Given the description of an element on the screen output the (x, y) to click on. 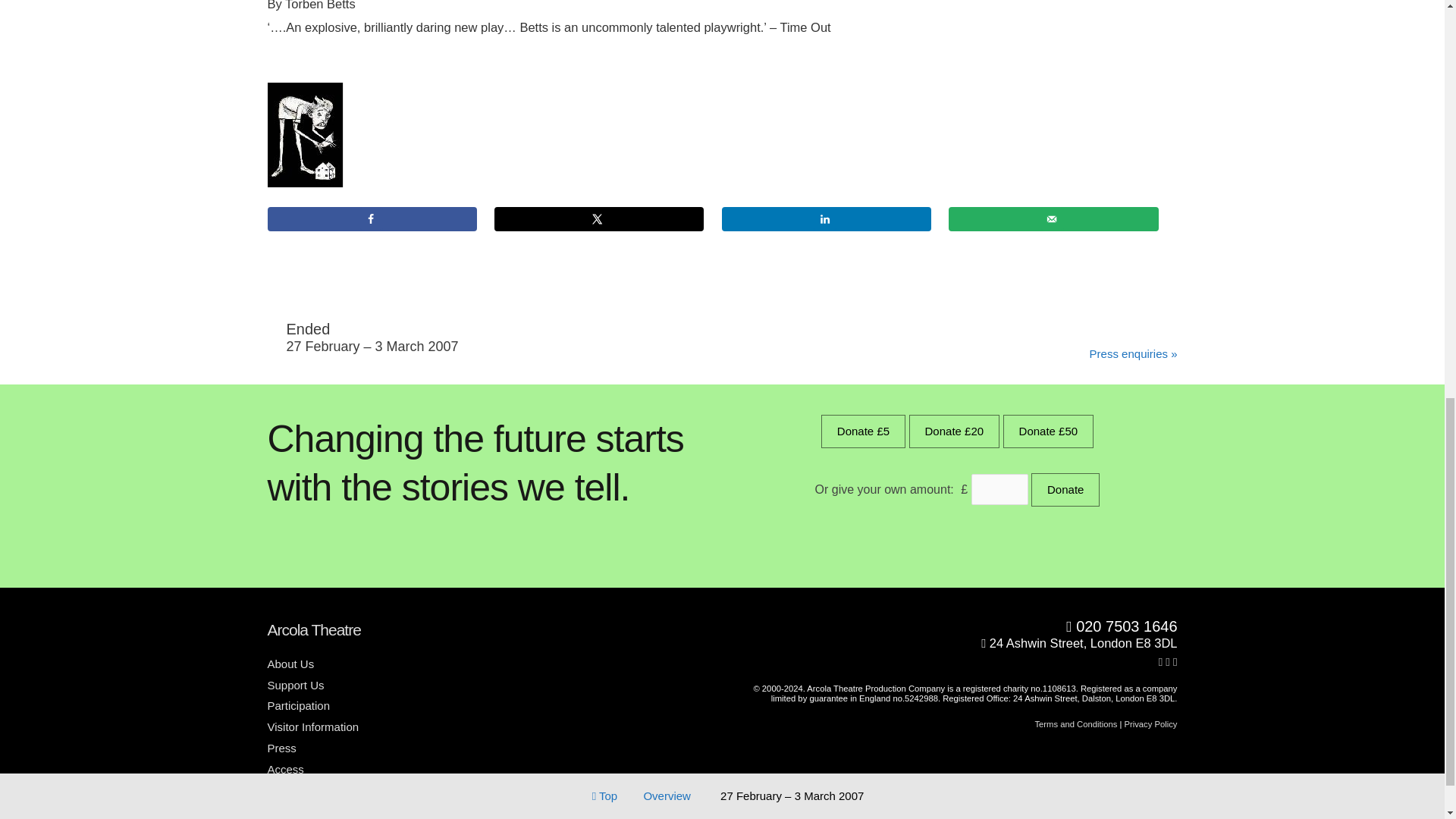
Share on LinkedIn (826, 218)
020 7503 1646 (956, 627)
Access (290, 768)
Share on Facebook (371, 218)
Support Us (300, 684)
Share on X (599, 218)
Press (286, 748)
Participation (303, 705)
About Us (295, 663)
Visitor Information (317, 726)
